Given the description of an element on the screen output the (x, y) to click on. 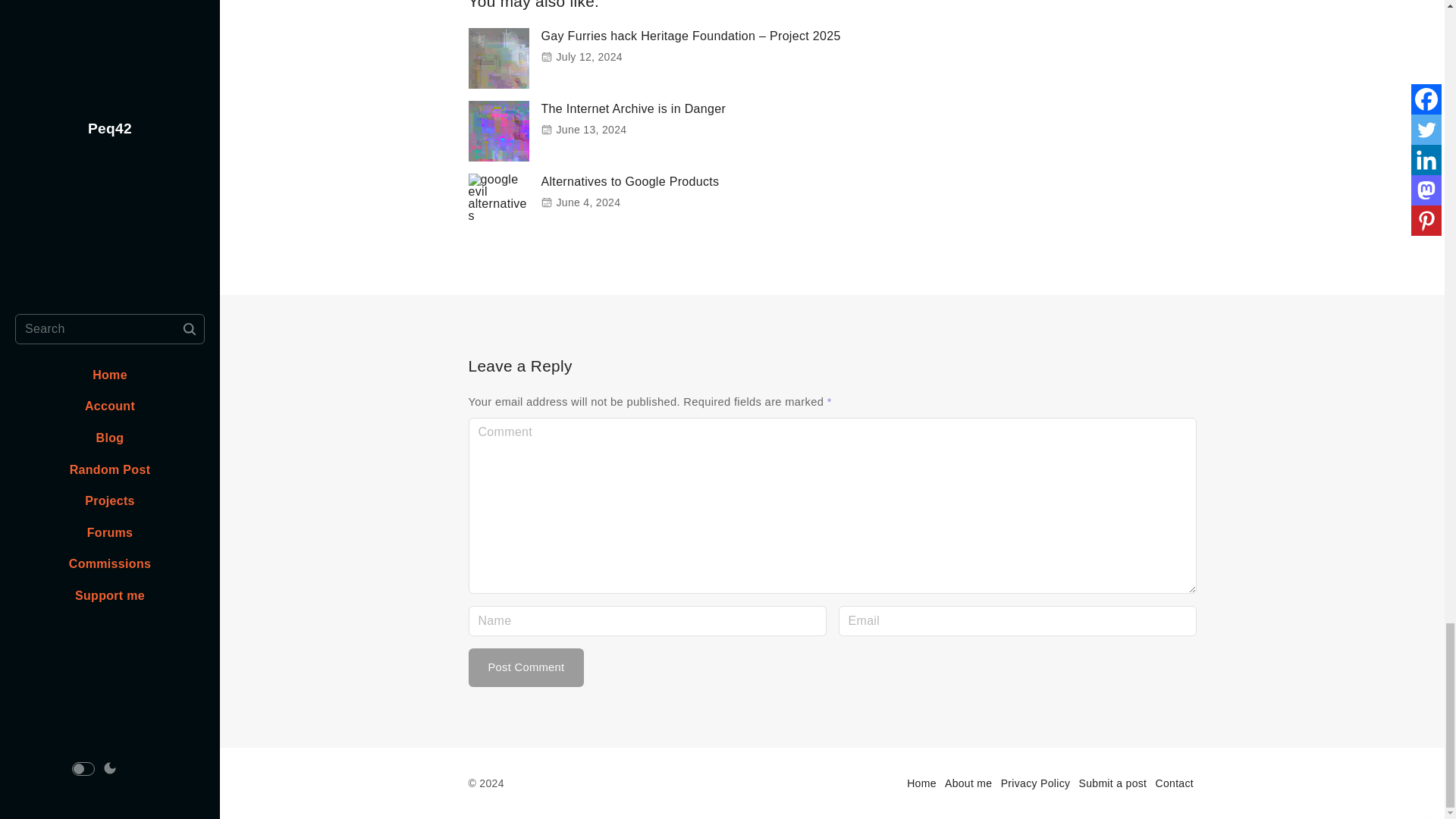
Post Comment (526, 667)
